Given the description of an element on the screen output the (x, y) to click on. 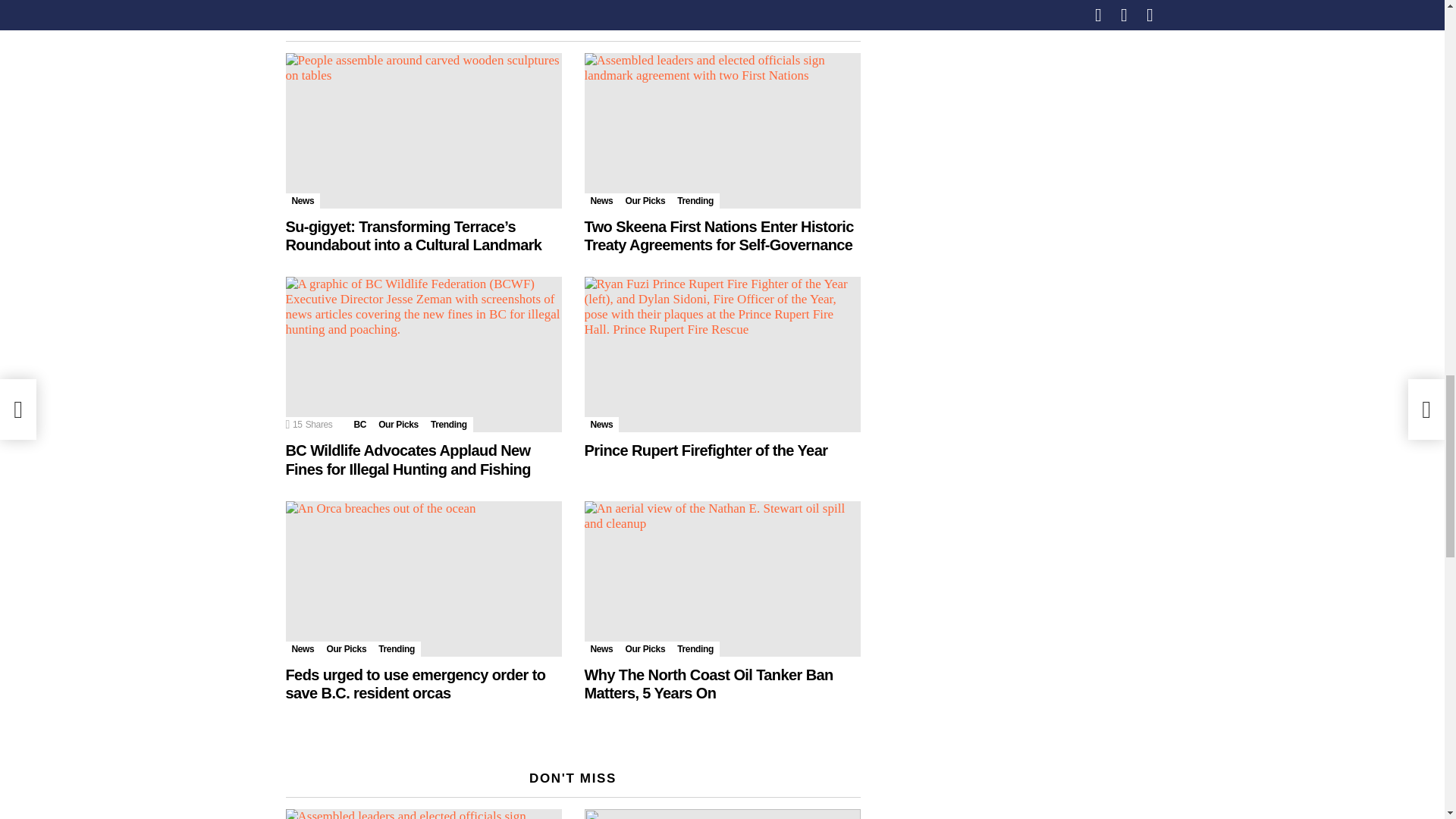
Prince Rupert Firefighter of the Year (721, 354)
Why The North Coast Oil Tanker Ban Matters, 5 Years On (721, 578)
